Given the description of an element on the screen output the (x, y) to click on. 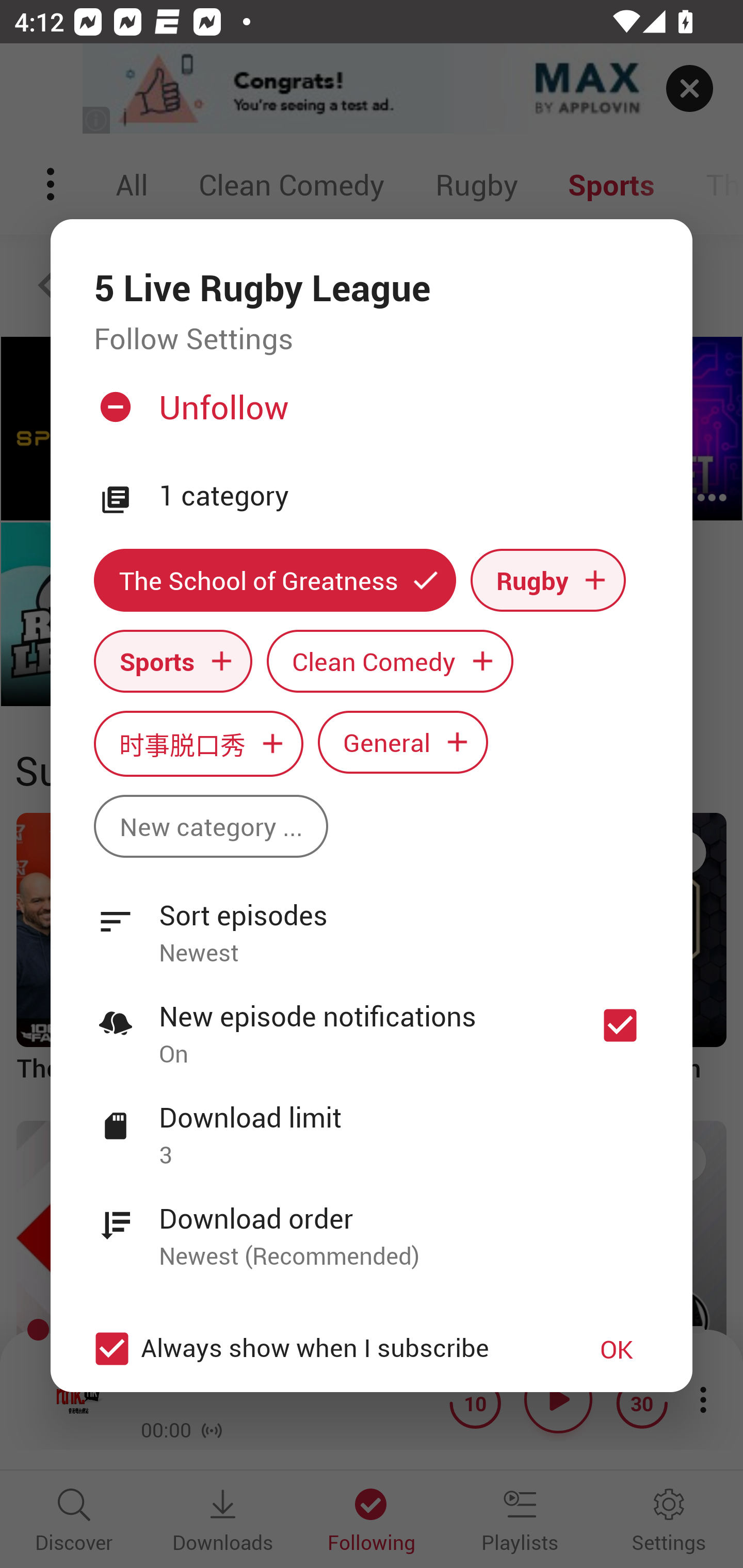
Unfollow (369, 415)
1 category (404, 495)
The School of Greatness (274, 579)
Rugby (547, 579)
Sports (172, 661)
Clean Comedy (389, 661)
时事脱口秀 (198, 743)
General (403, 741)
New category ... (210, 825)
Sort episodes Newest (371, 922)
New episode notifications (620, 1025)
Download limit 3 (371, 1125)
Download order Newest (Recommended) (371, 1226)
OK (616, 1349)
Always show when I subscribe (320, 1349)
